Given the description of an element on the screen output the (x, y) to click on. 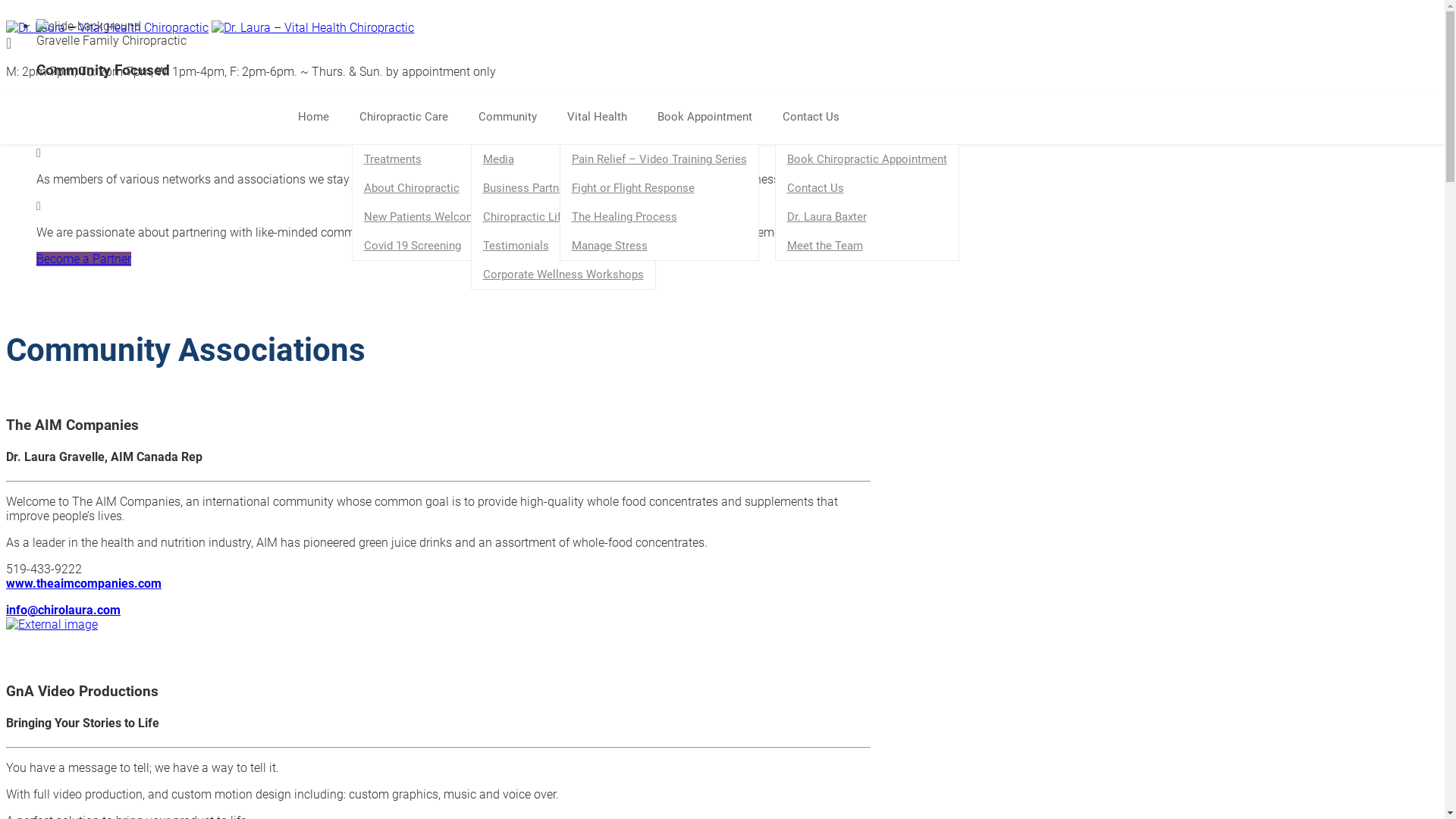
Book Chiropractic Appointment Element type: text (866, 158)
Manage Stress Element type: text (658, 245)
Become a Partner Element type: text (83, 258)
Business Partners Element type: text (563, 187)
Meet the Team Element type: text (866, 245)
Contact Us Element type: text (866, 187)
The Healing Process Element type: text (658, 216)
Chiropractic Lifestyle Blog Element type: text (563, 216)
Contact Us Element type: text (818, 117)
Media Element type: text (563, 158)
Dr. Laura Baxter Element type: text (866, 216)
www.theaimcompanies.com Element type: text (83, 583)
Covid 19 Screening Element type: text (422, 245)
New Patients Welcome Element type: text (422, 216)
About Chiropractic Element type: text (422, 187)
Community Element type: text (514, 117)
Treatments Element type: text (422, 158)
info@chirolaura.com Element type: text (63, 609)
Testimonials Element type: text (563, 245)
Corporate Wellness Workshops Element type: text (563, 274)
Chiropractic Care Element type: text (410, 117)
Home Element type: text (320, 117)
Vital Health Element type: text (604, 117)
Book Appointment Element type: text (711, 117)
Fight or Flight Response Element type: text (658, 187)
